Given the description of an element on the screen output the (x, y) to click on. 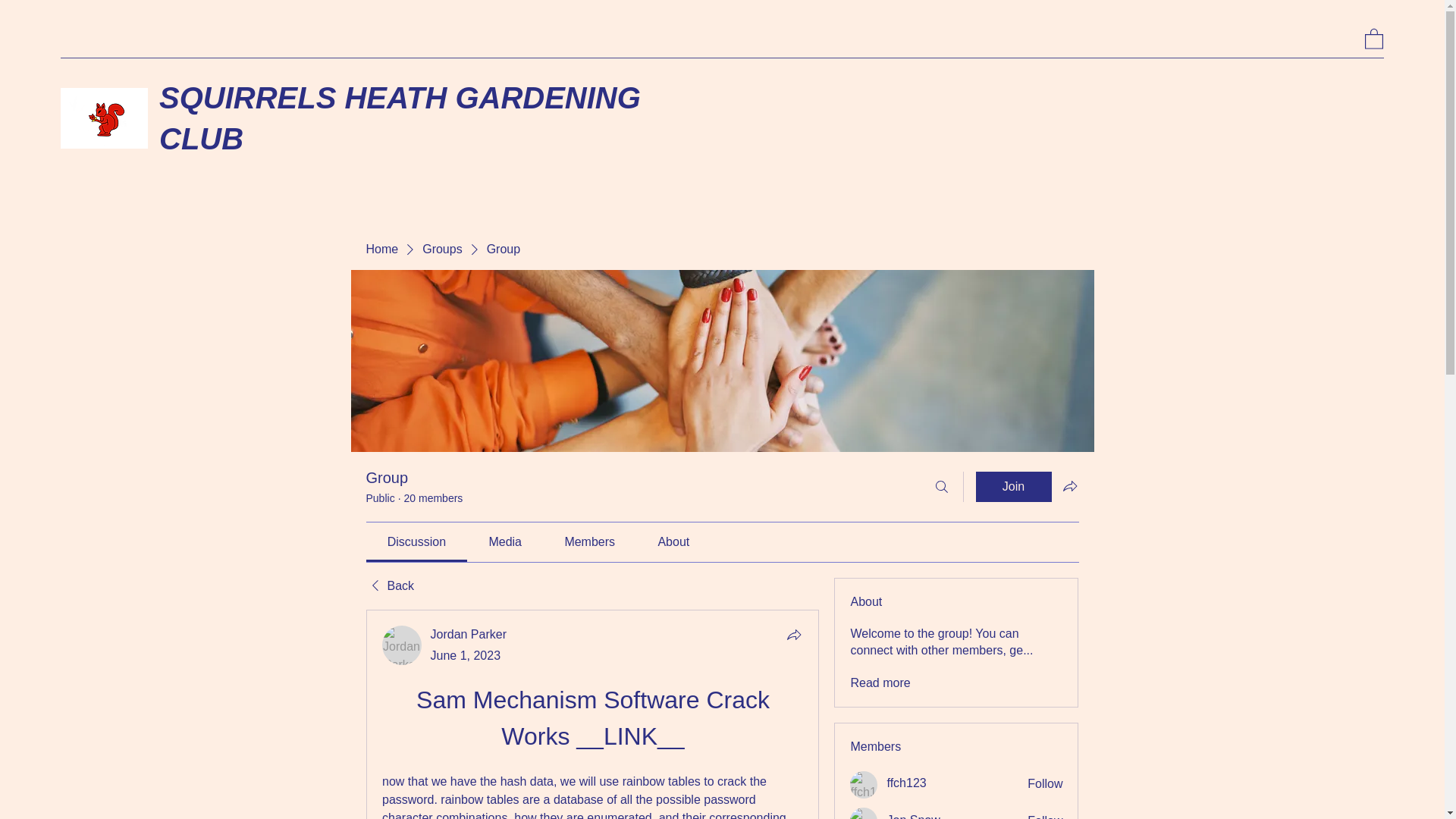
Join (1013, 486)
Follow (1044, 783)
Jordan Parker (468, 634)
Home (381, 248)
Back (389, 586)
Groups (441, 248)
Follow (1044, 816)
Jon Snow (912, 816)
June 1, 2023 (465, 655)
Read more (880, 682)
